Given the description of an element on the screen output the (x, y) to click on. 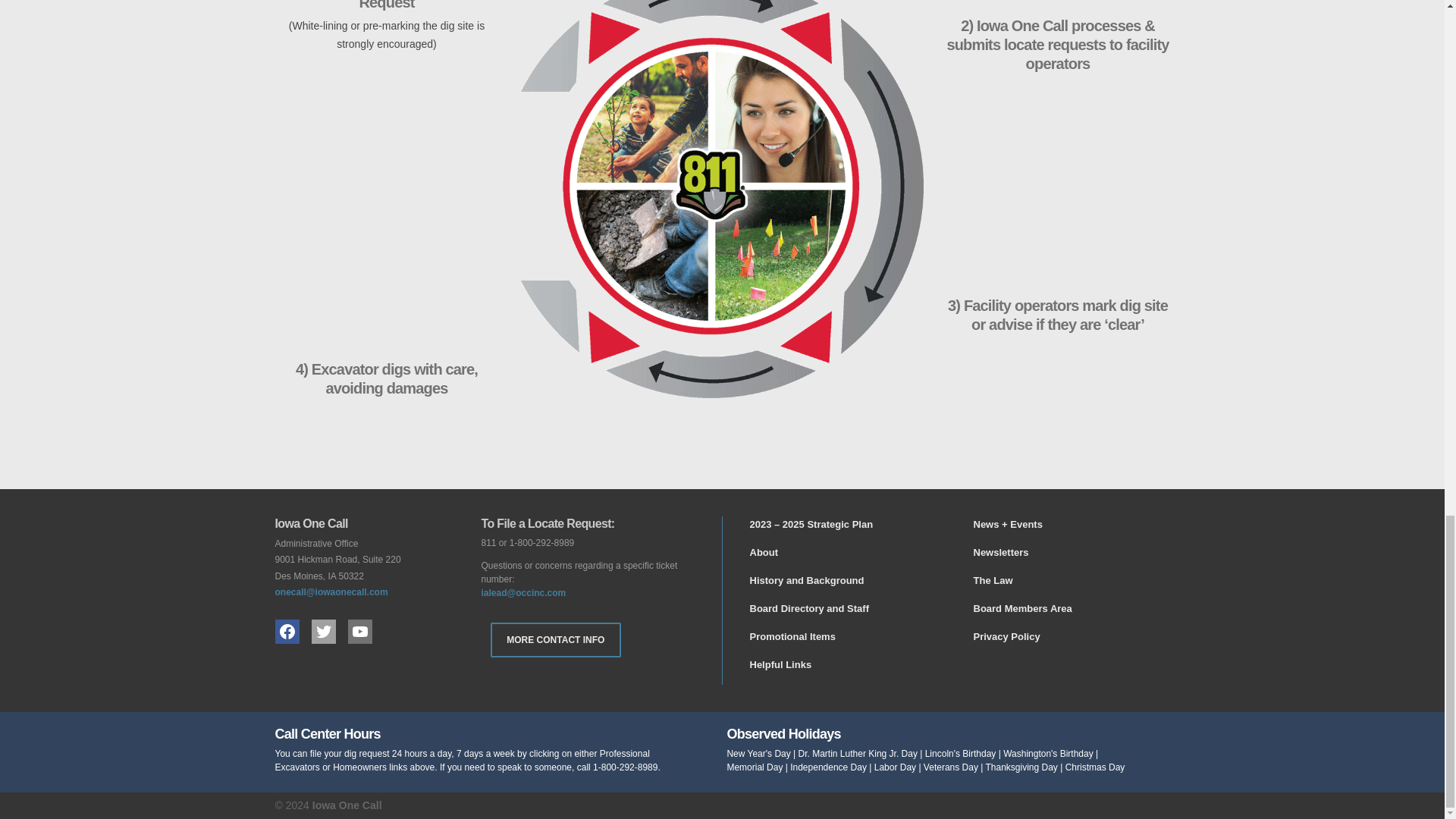
The Law (993, 580)
Newsletters (1001, 552)
History and Background (806, 580)
Board Members Area (1022, 608)
MORE CONTACT INFO (555, 639)
Privacy Policy (1007, 636)
Facebook (286, 631)
About (763, 552)
Twitter (322, 631)
Board Directory and Staff (808, 608)
